Given the description of an element on the screen output the (x, y) to click on. 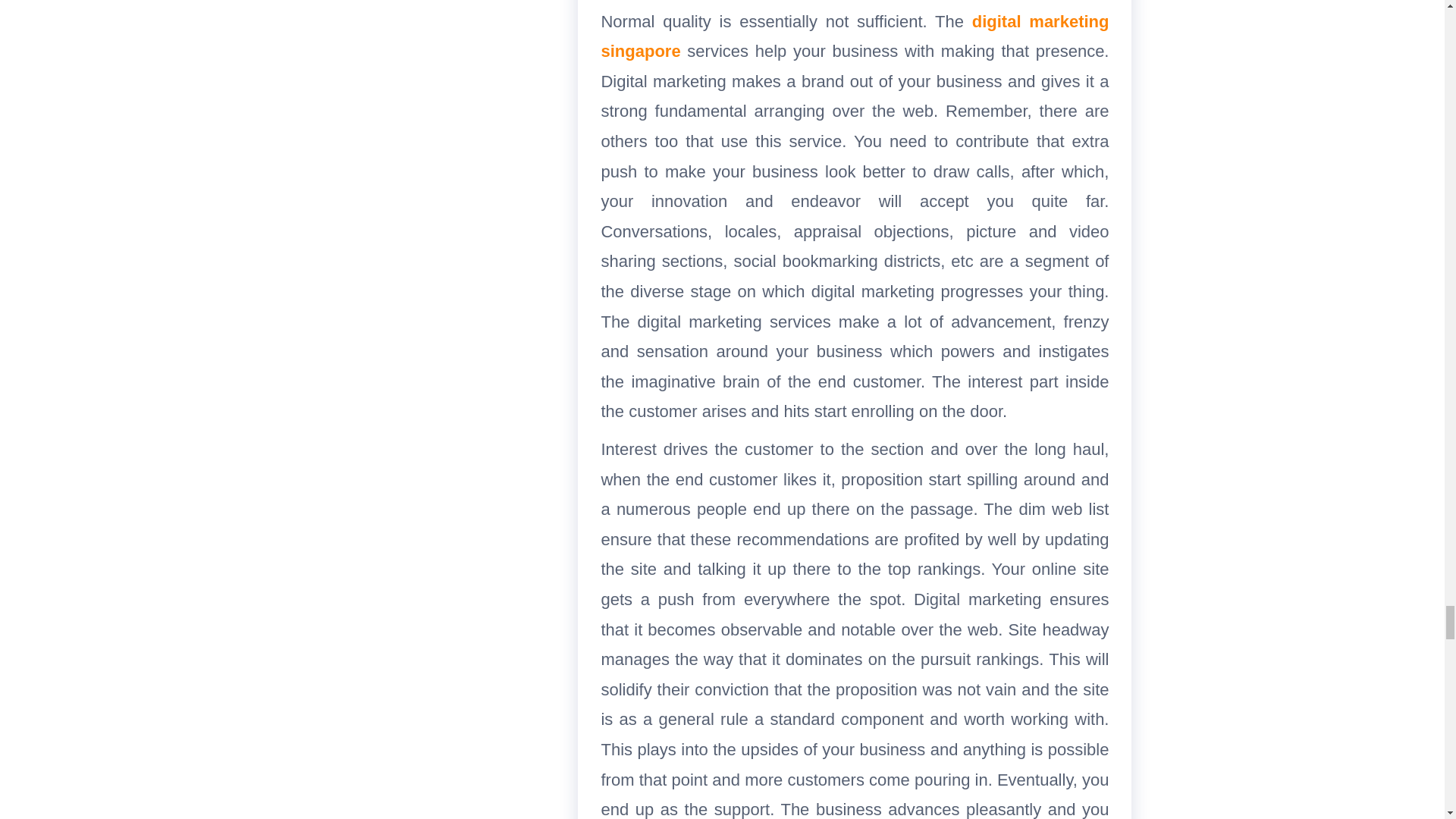
digital marketing singapore (853, 36)
